Given the description of an element on the screen output the (x, y) to click on. 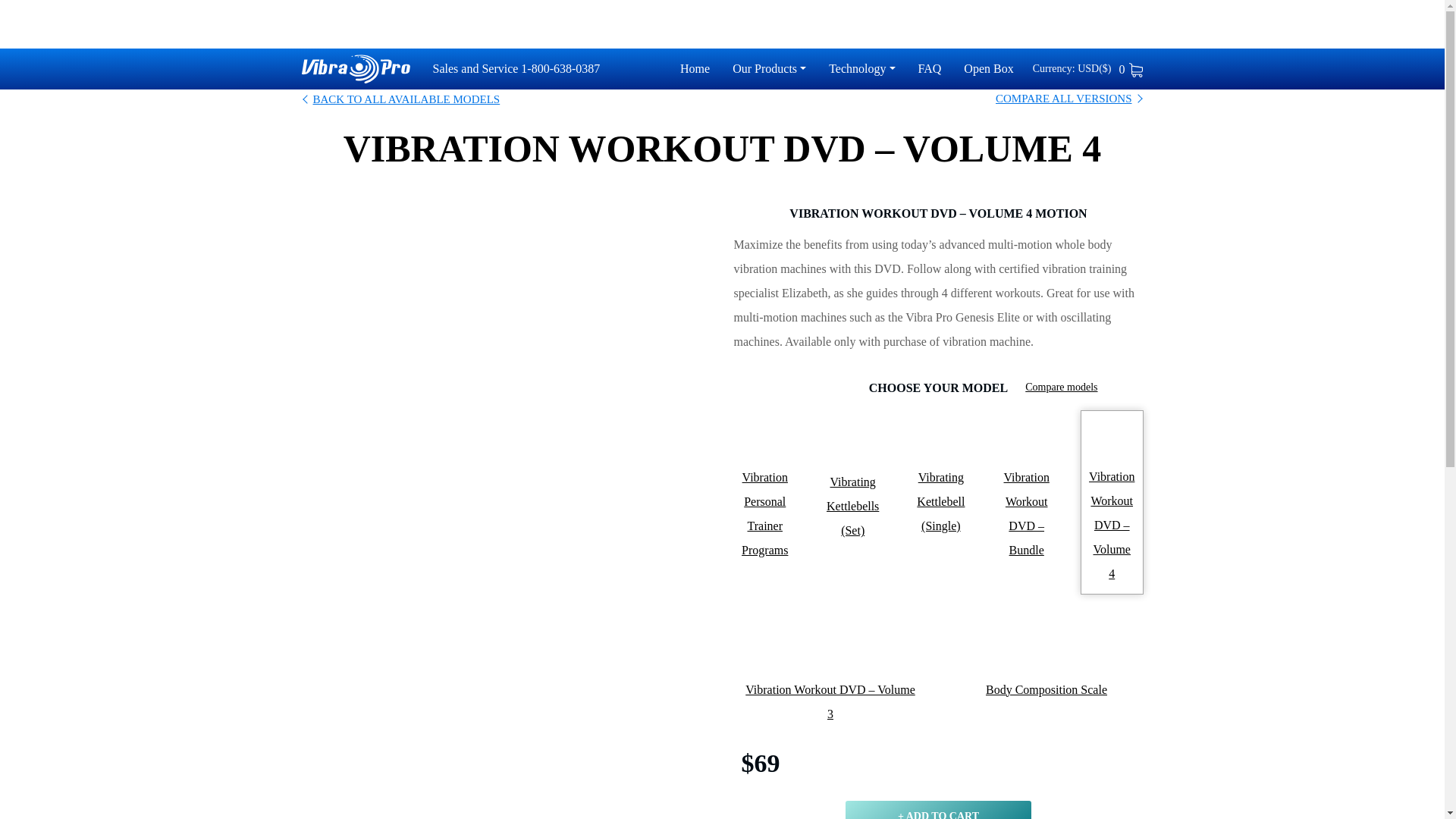
Home (694, 68)
Home (694, 68)
Open Box (988, 68)
COMPARE ALL VERSIONS (1063, 97)
Our Products (769, 68)
BACK TO ALL AVAILABLE MODELS (400, 99)
Technology (861, 68)
Our Products (769, 68)
Technology (861, 68)
0 (1130, 69)
